Given the description of an element on the screen output the (x, y) to click on. 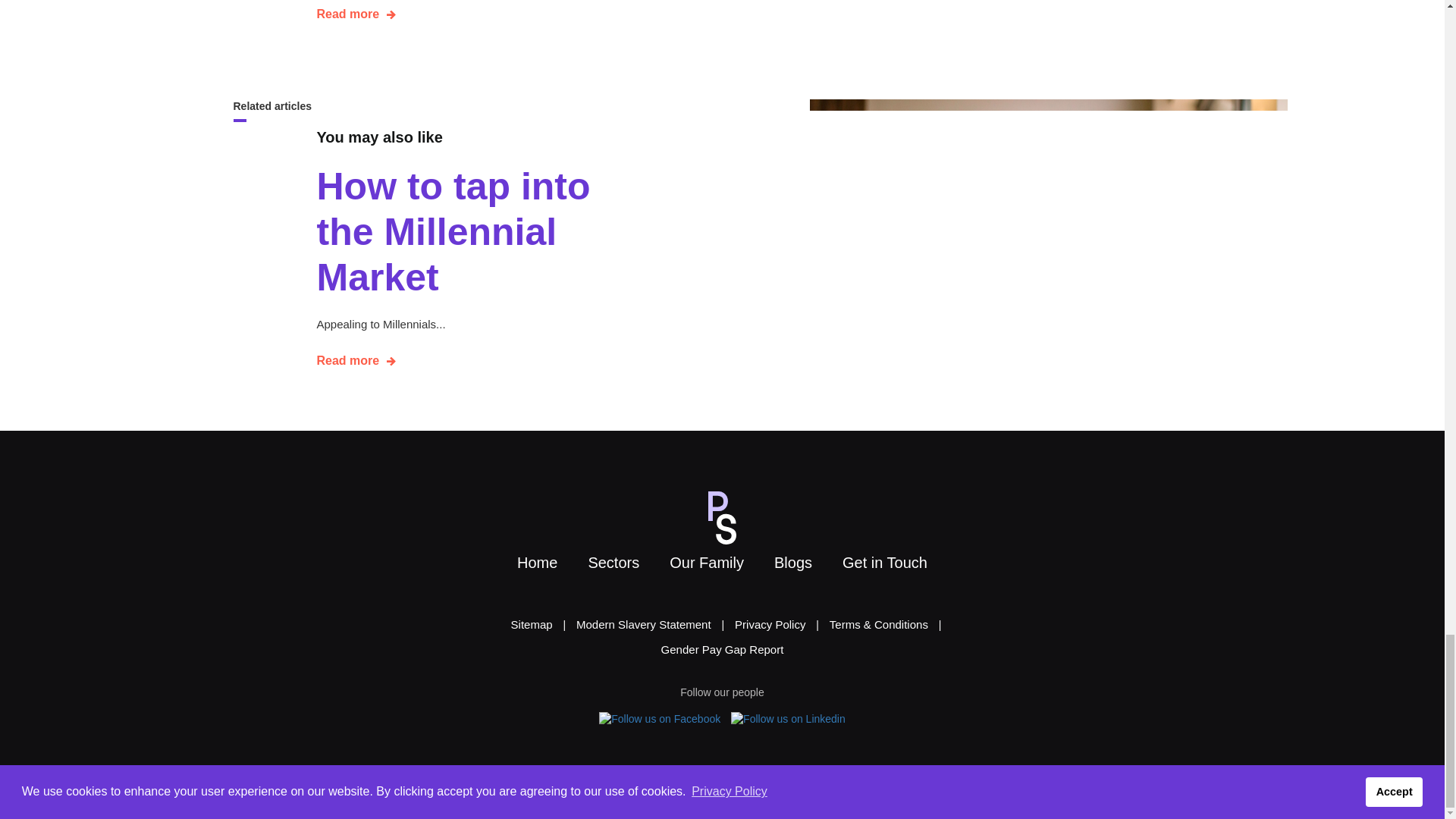
Privacy Policy (769, 624)
Sitemap (531, 624)
Read more (356, 361)
Modern Slavery Statement (644, 624)
Sectors (612, 563)
Our Family (705, 563)
Blogs (792, 563)
Home (537, 563)
Read more (356, 14)
Gender Pay Gap Report (722, 649)
